Given the description of an element on the screen output the (x, y) to click on. 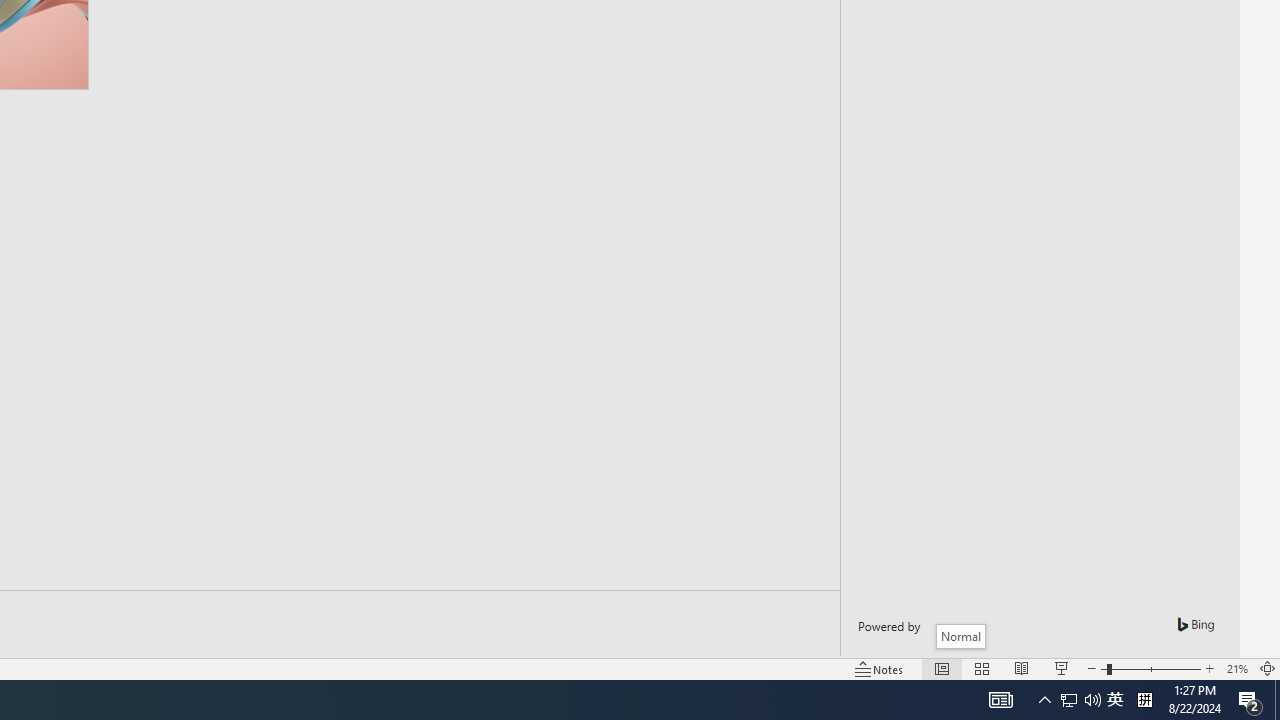
Zoom 21% (1236, 668)
